Given the description of an element on the screen output the (x, y) to click on. 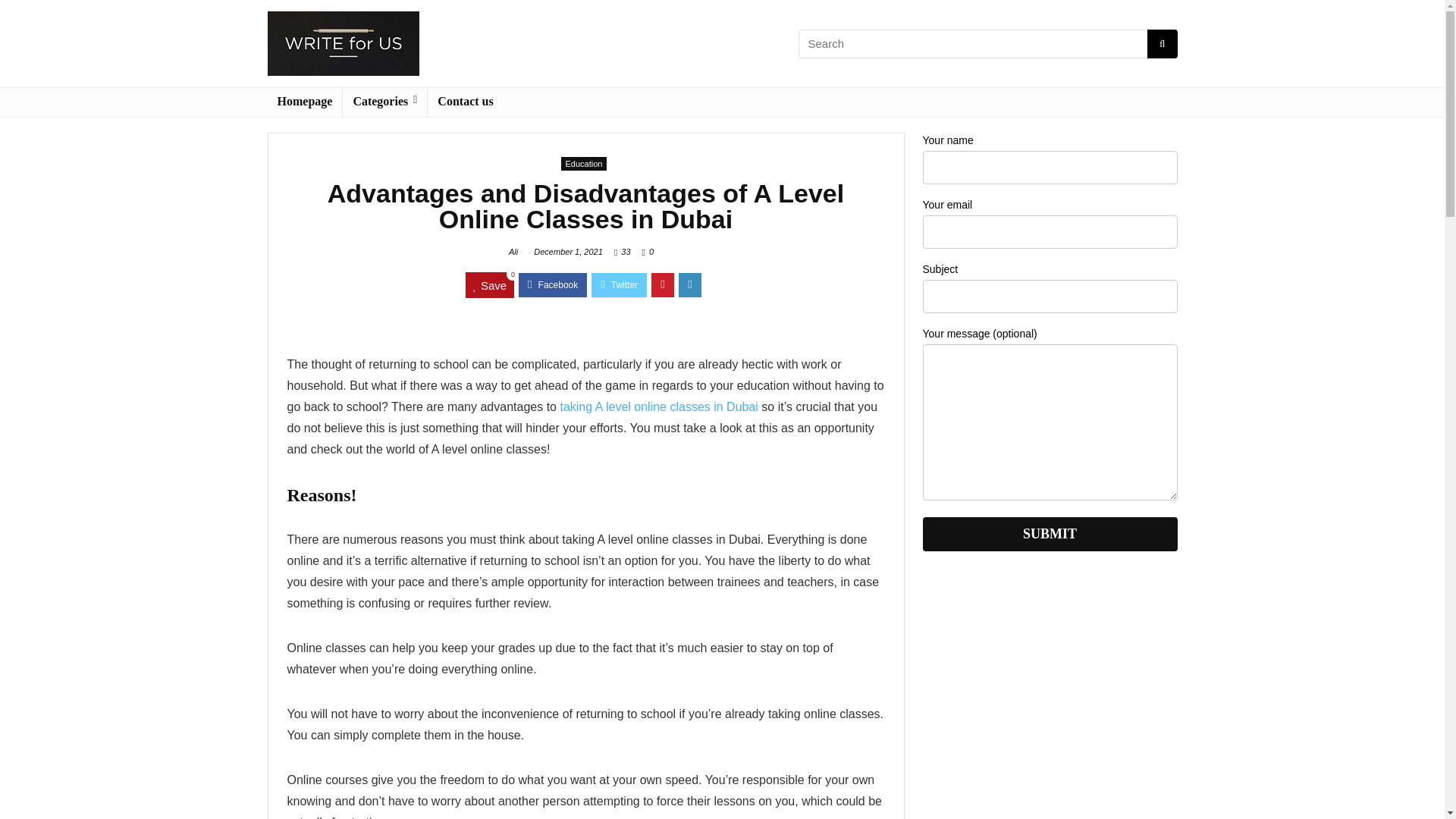
Submit (1048, 533)
Contact us (465, 102)
Education (583, 163)
Ali (513, 251)
Homepage (304, 102)
taking A level online classes in Dubai (657, 406)
Categories (384, 102)
